Given the description of an element on the screen output the (x, y) to click on. 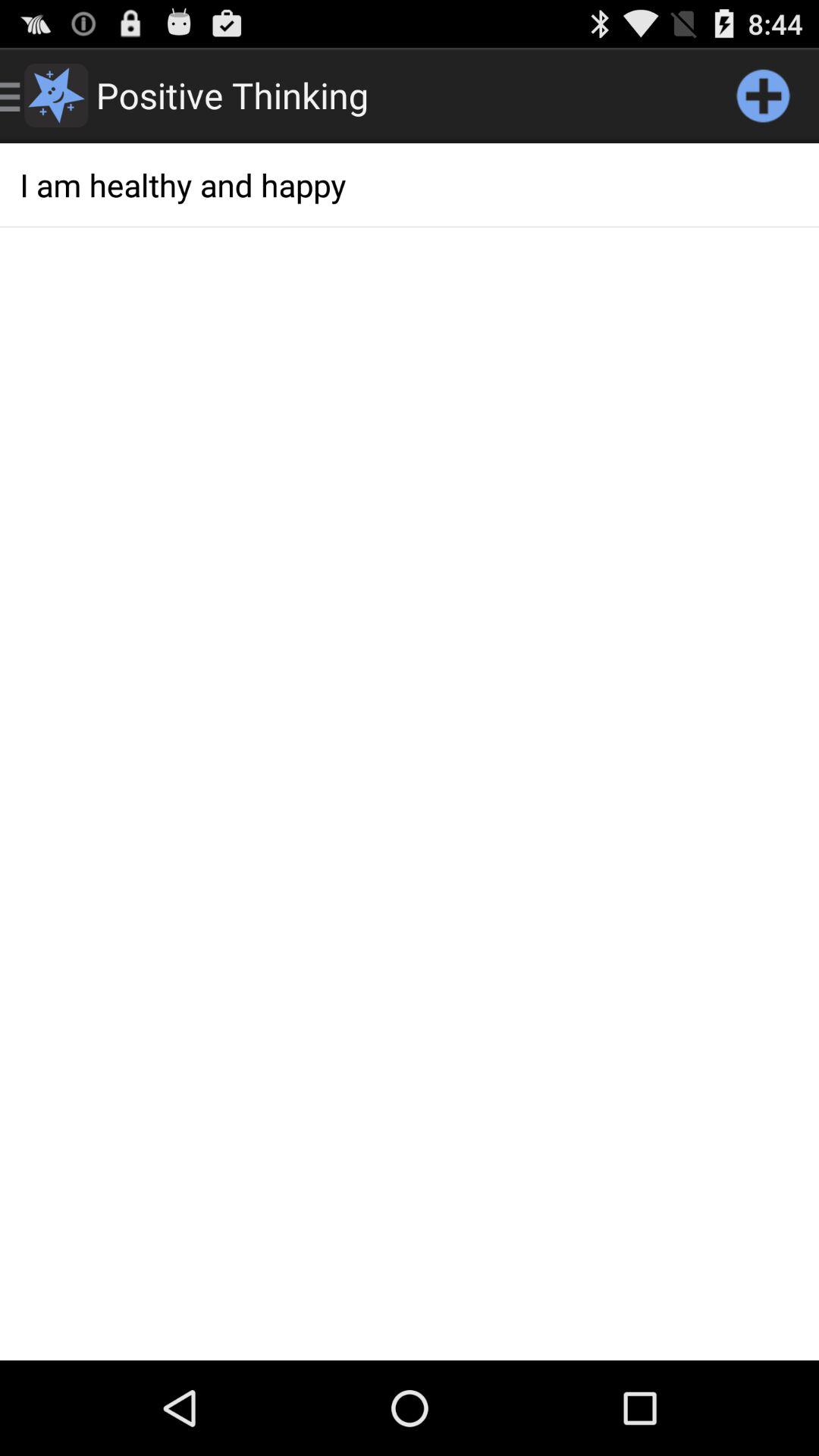
add to the list (763, 95)
